Given the description of an element on the screen output the (x, y) to click on. 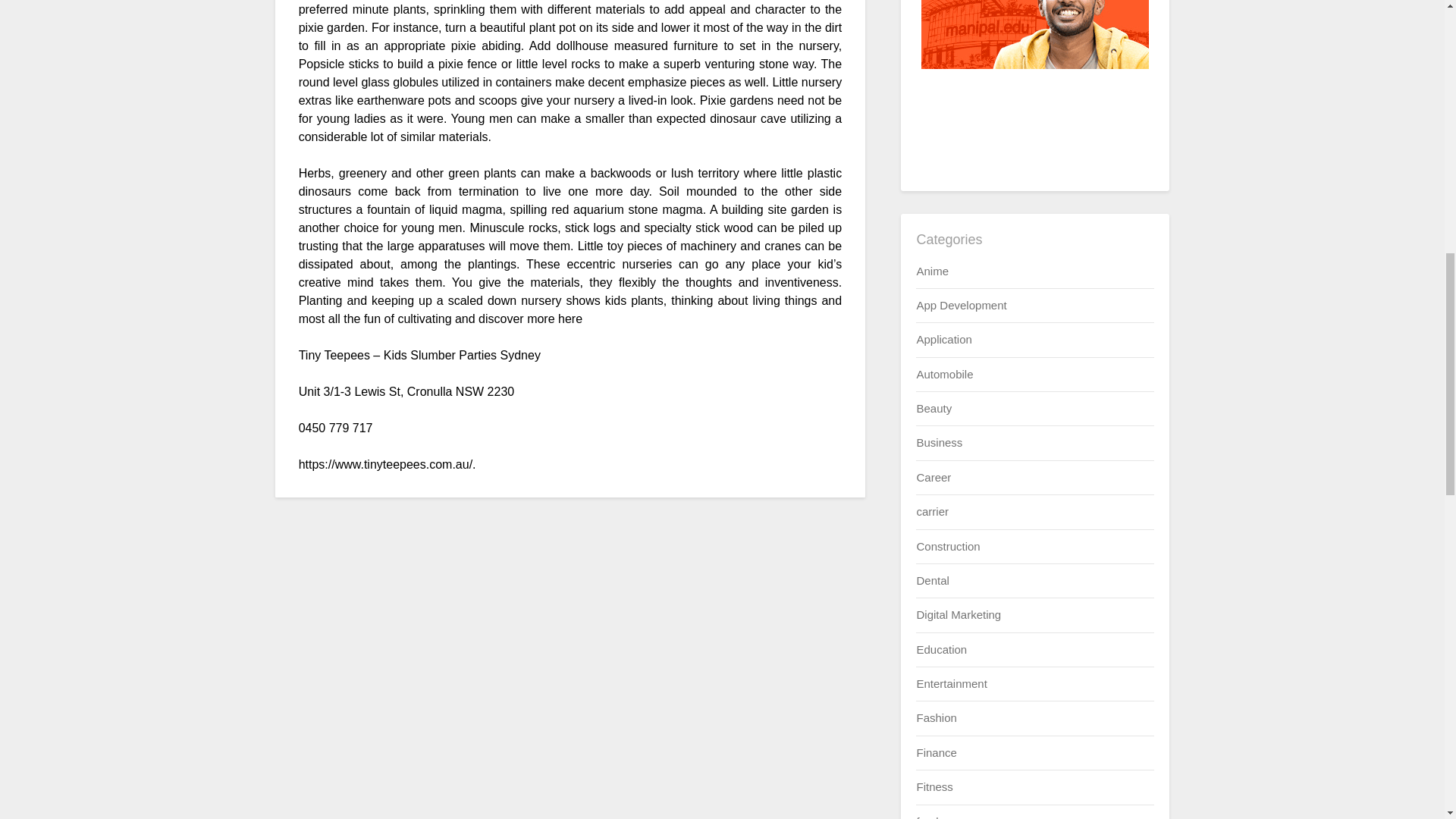
Fitness (933, 786)
food (926, 816)
Anime (932, 269)
Fashion (935, 717)
Finance (935, 752)
Automobile (943, 373)
Education (940, 649)
Career (932, 477)
App Development (960, 305)
Digital Marketing (958, 614)
